Given the description of an element on the screen output the (x, y) to click on. 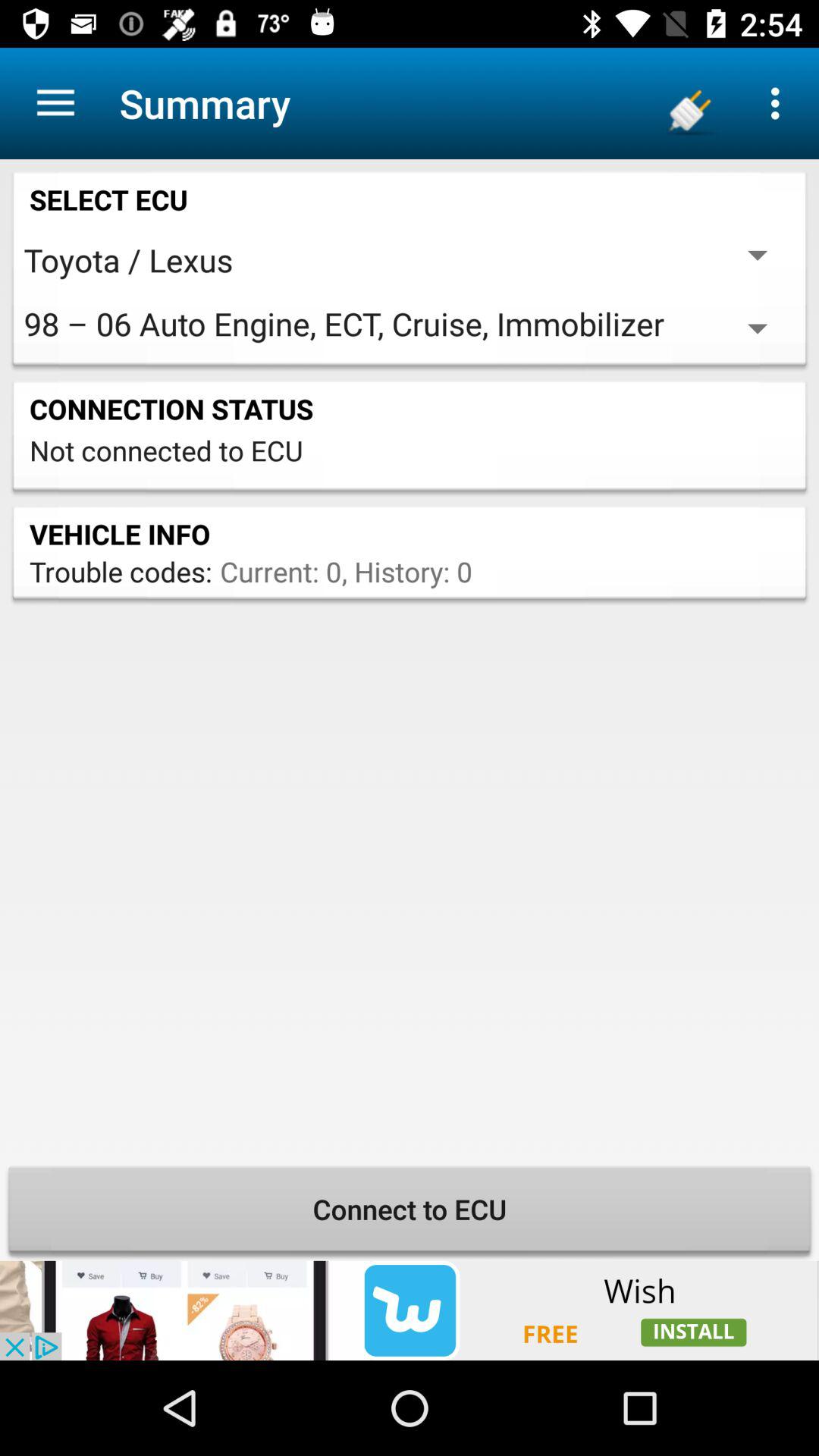
open advertisement (409, 1310)
